Given the description of an element on the screen output the (x, y) to click on. 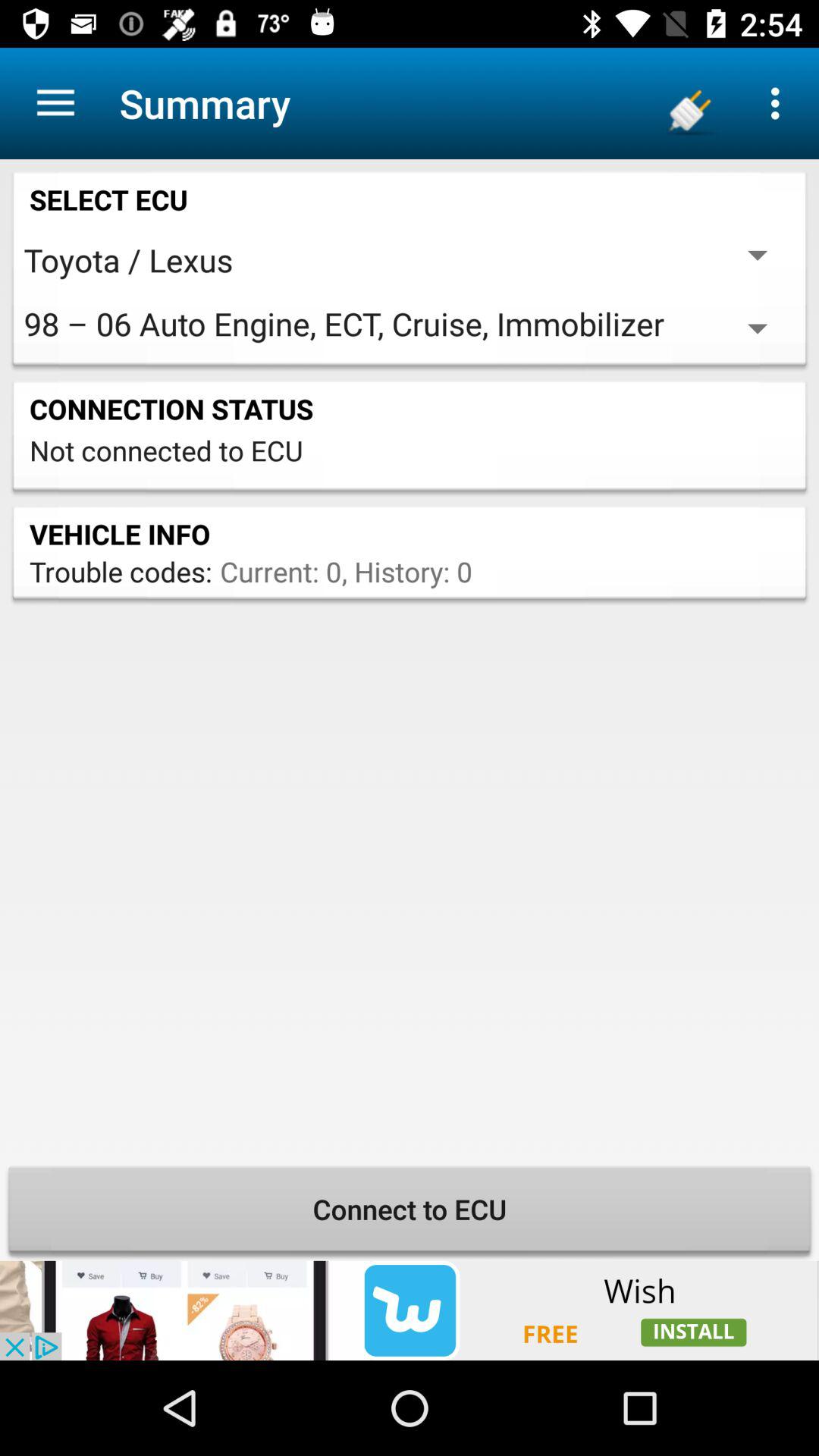
open advertisement (409, 1310)
